Given the description of an element on the screen output the (x, y) to click on. 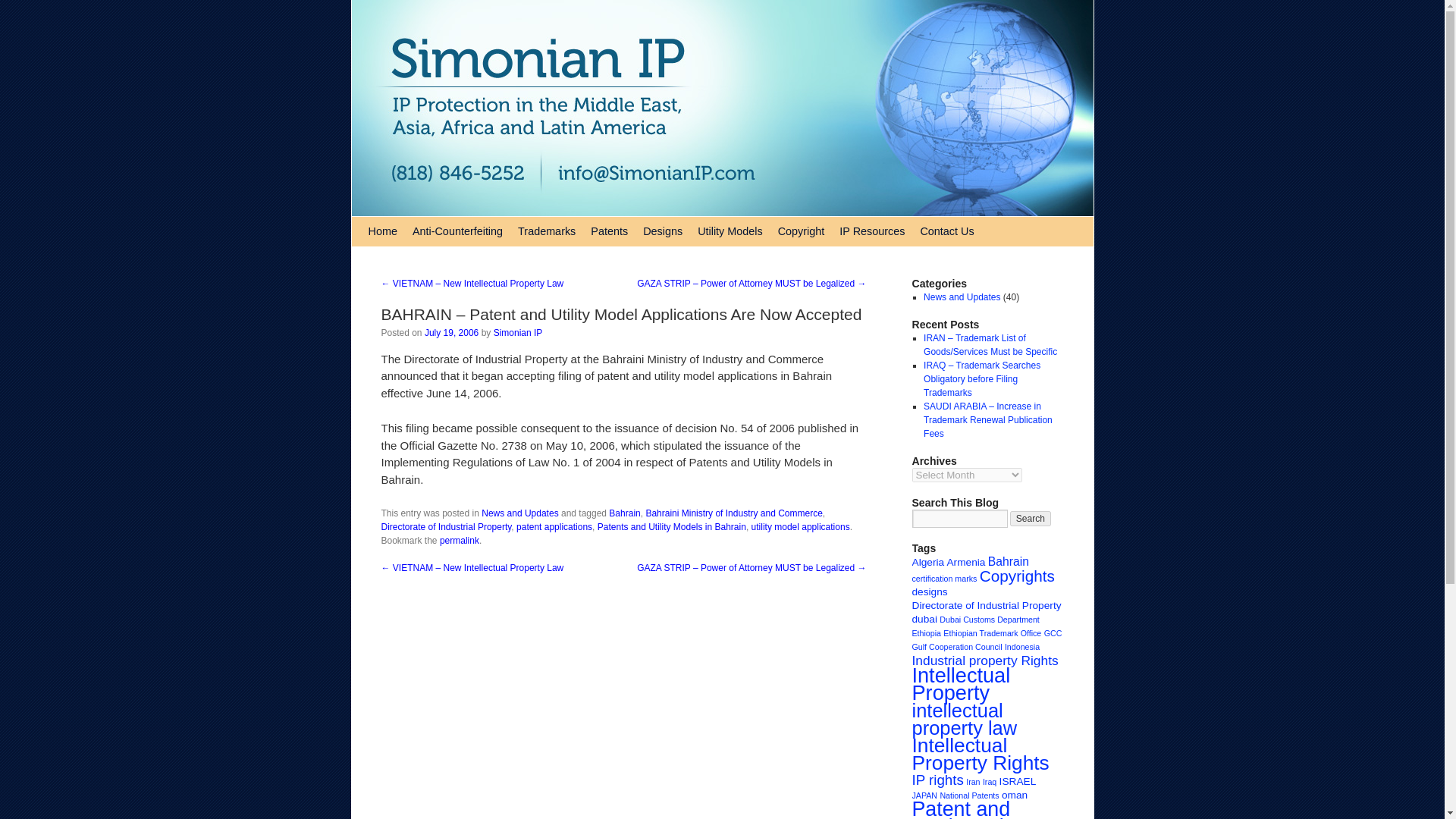
Search (1030, 518)
Simonian IP (518, 332)
Anti-Counterfeiting (457, 231)
Ethiopia (925, 633)
8:44 am (452, 332)
Contact Us (946, 231)
News and Updates (519, 512)
patent applications (554, 526)
certification marks (943, 578)
July 19, 2006 (452, 332)
